Given the description of an element on the screen output the (x, y) to click on. 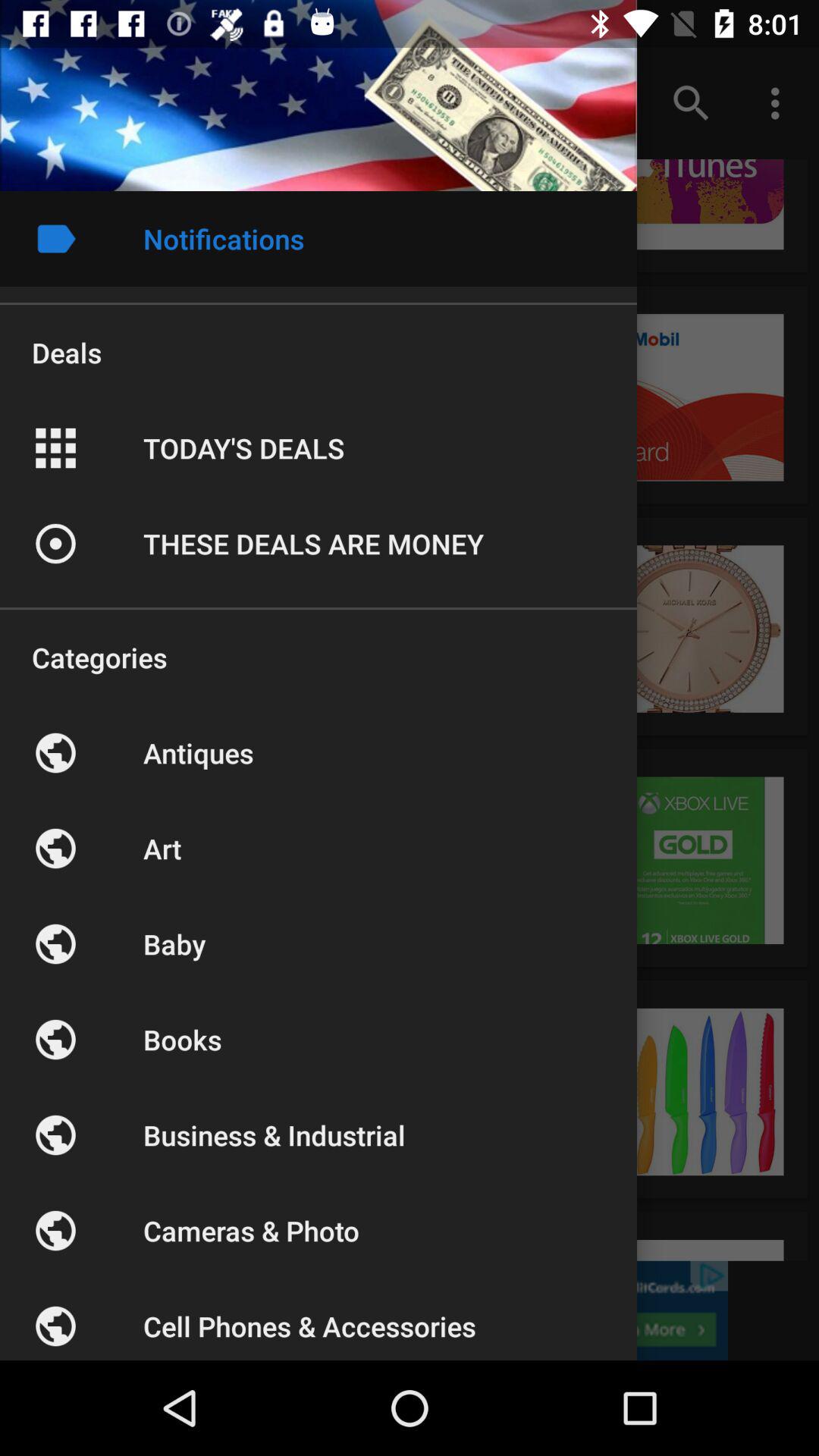
click on the icon below the art (55, 943)
